Given the description of an element on the screen output the (x, y) to click on. 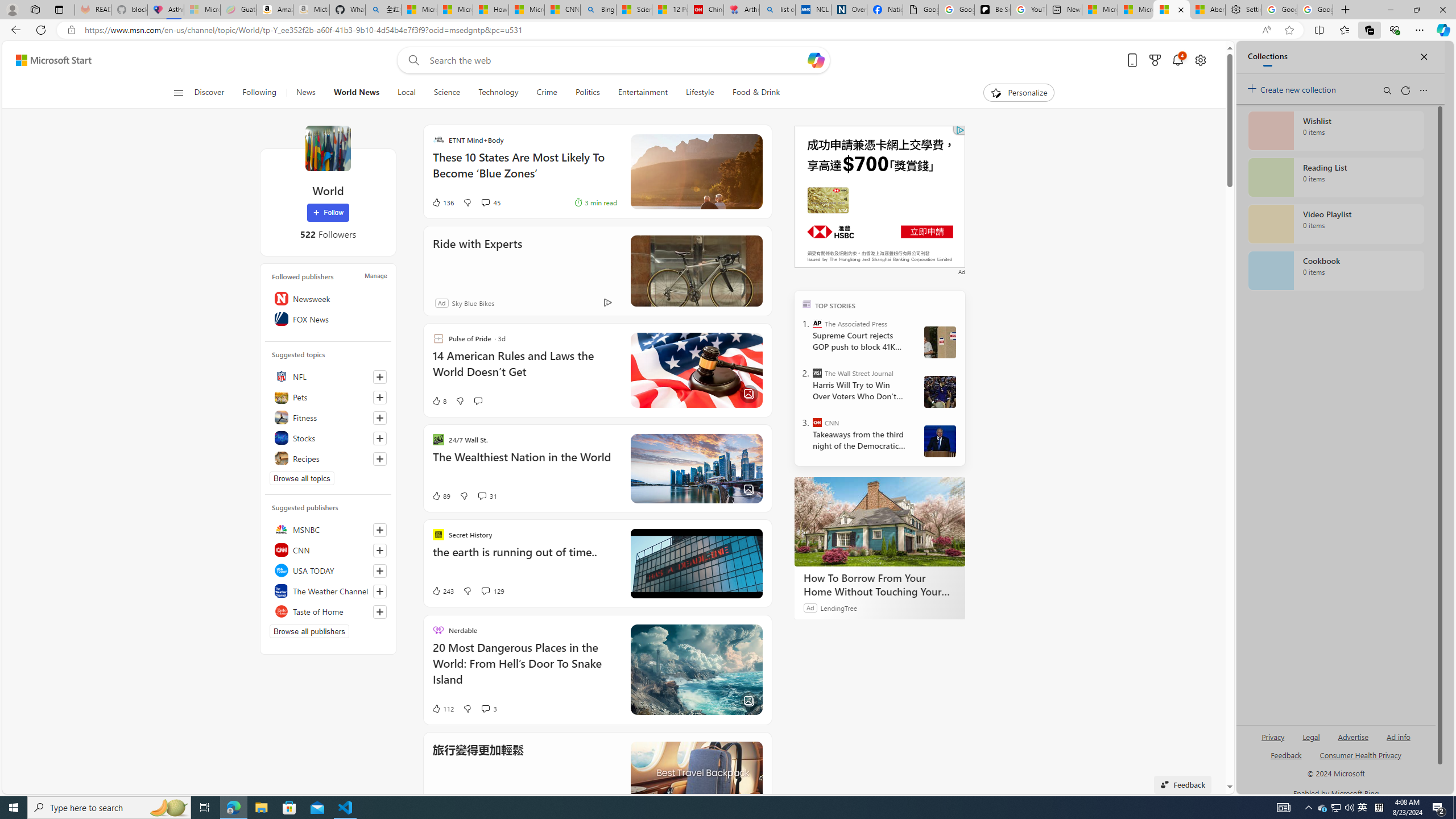
Pets (327, 397)
12 Popular Science Lies that Must be Corrected (670, 9)
TOP (806, 302)
Manage (375, 275)
Google Analytics Opt-out Browser Add-on Download Page (920, 9)
CNN (816, 422)
